Given the description of an element on the screen output the (x, y) to click on. 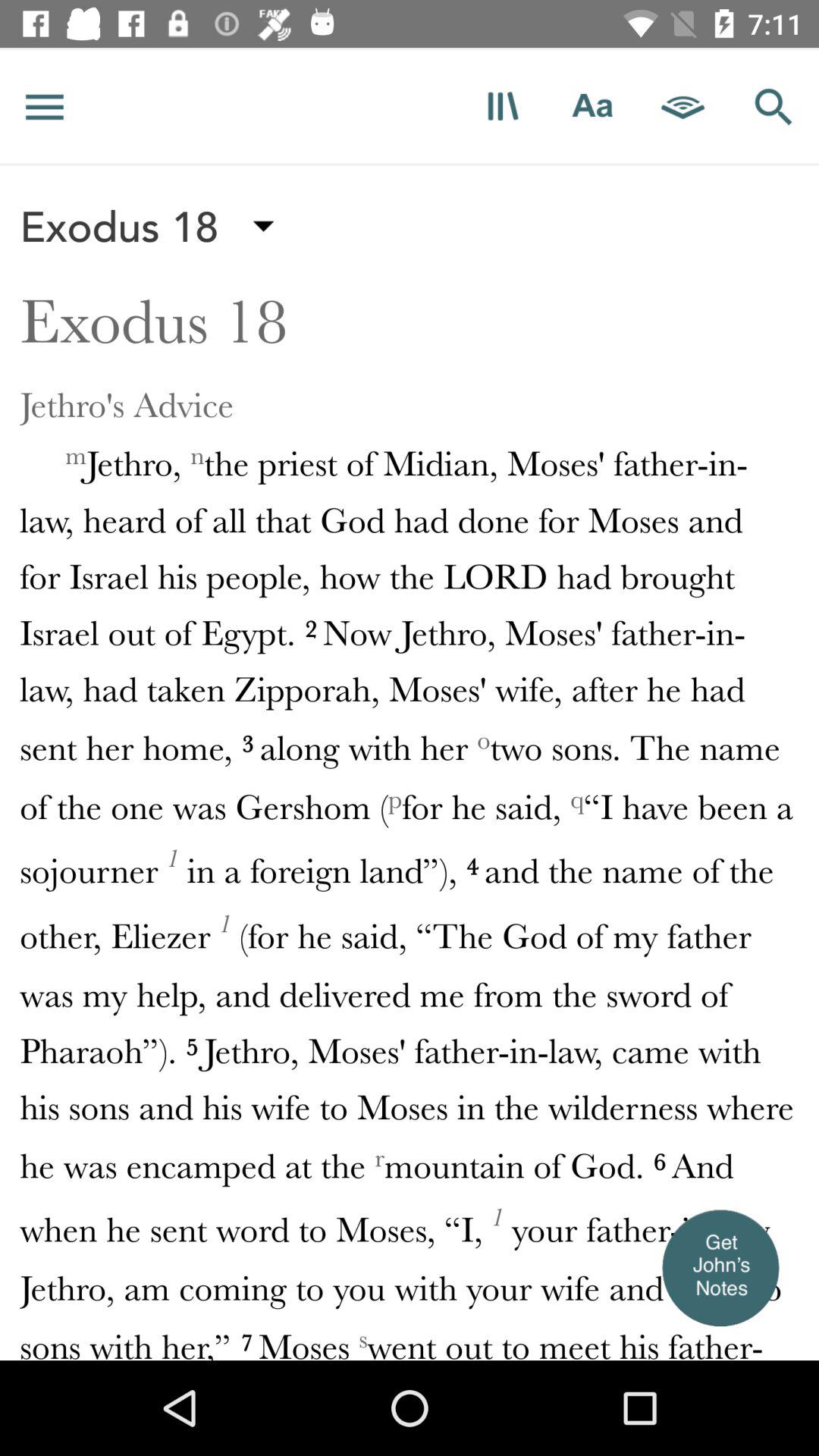
scroll until the exodus 17 water item (409, 47)
